Given the description of an element on the screen output the (x, y) to click on. 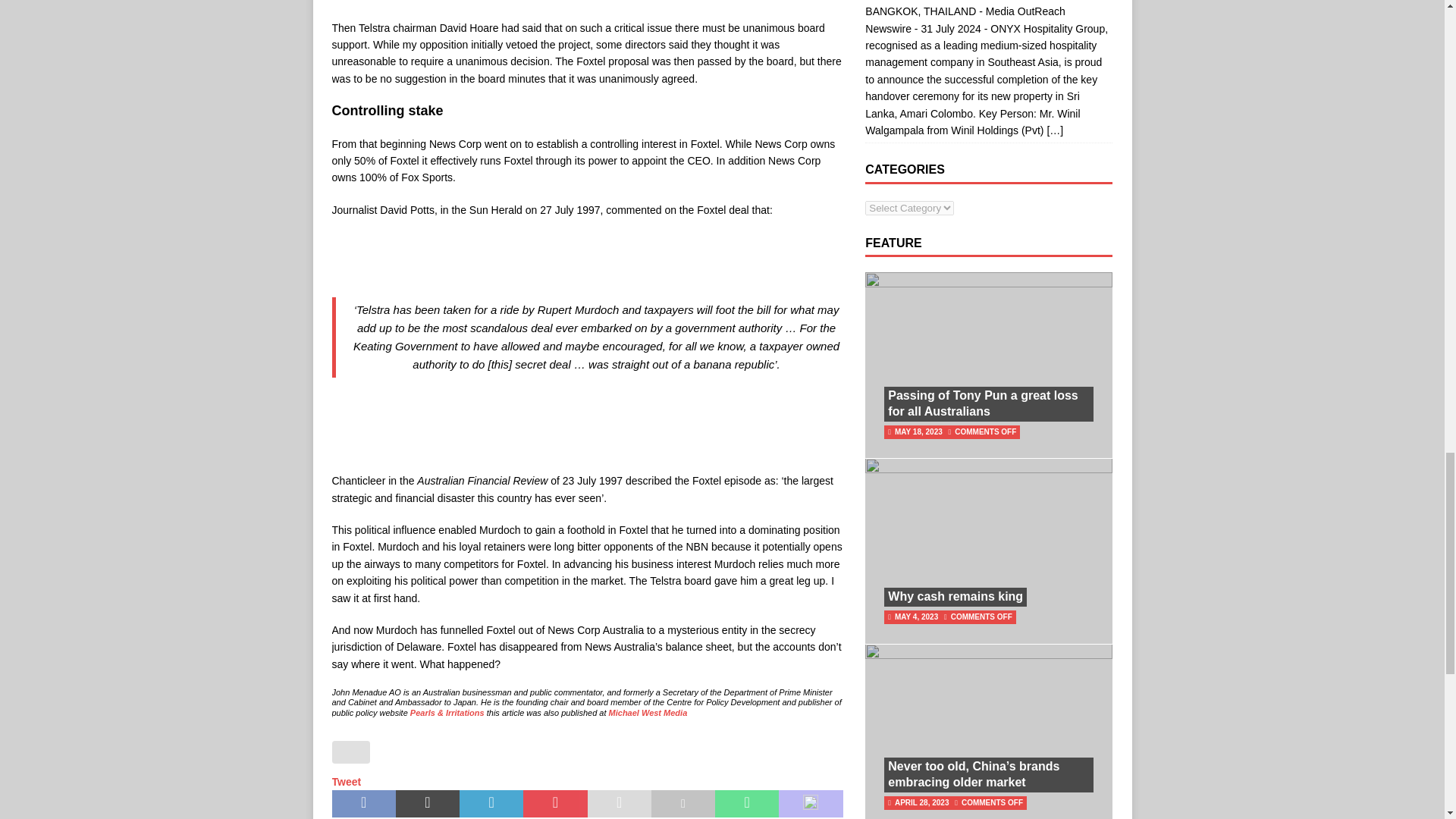
Tweet (346, 781)
Michael West Media (647, 712)
